Given the description of an element on the screen output the (x, y) to click on. 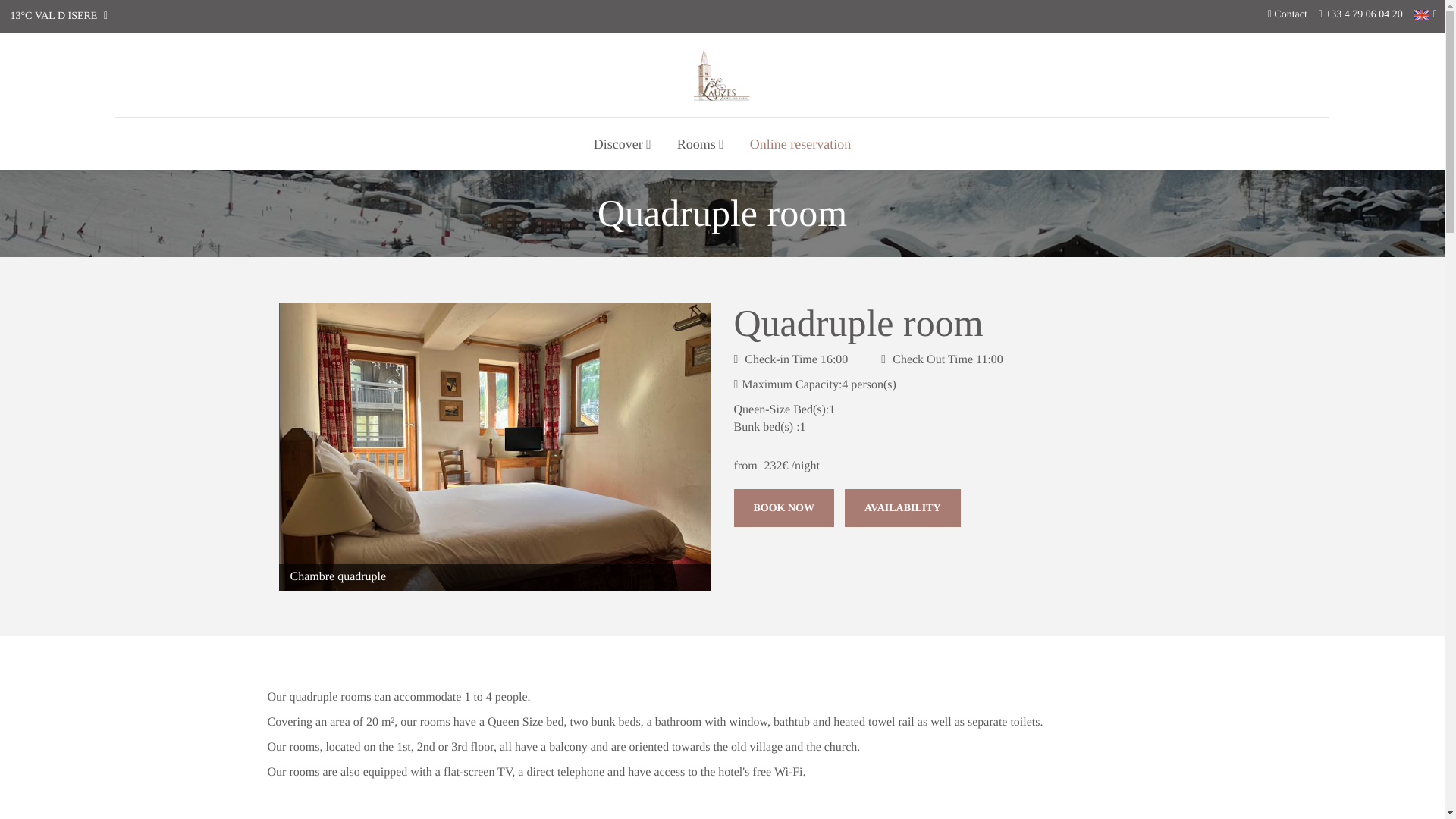
BOOK NOW (783, 507)
AVAILABILITY (902, 507)
Rooms (700, 143)
Discover (622, 143)
Contact (1287, 14)
Online reservation (799, 143)
